Given the description of an element on the screen output the (x, y) to click on. 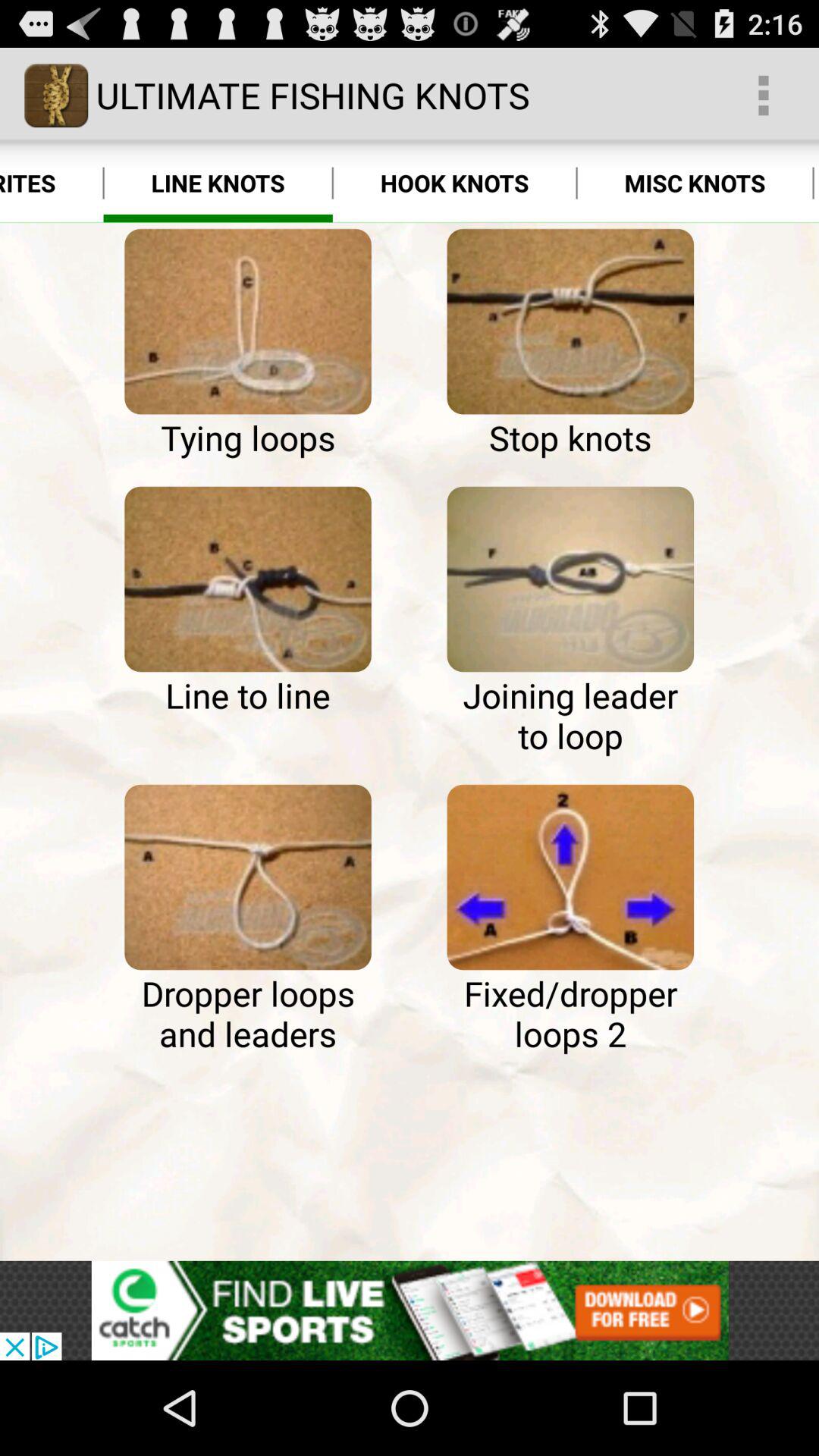
go to dropper loops and leaders (247, 876)
